Given the description of an element on the screen output the (x, y) to click on. 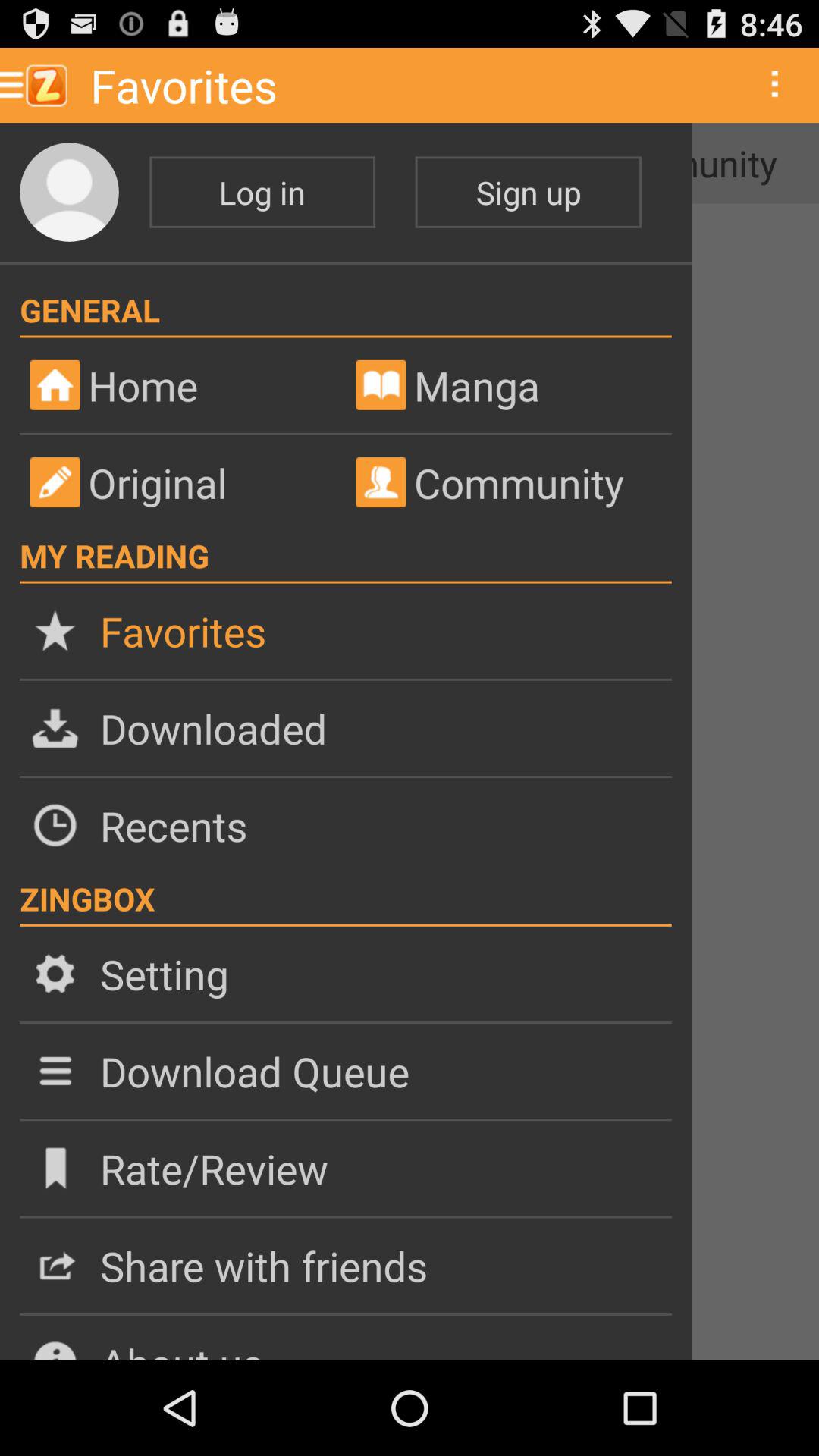
click on the button which is below the share with friends (345, 1337)
click on manga (508, 384)
click on three vertical dots which is at top right corner of the page (773, 85)
click on recents (345, 824)
select the text below general (192, 384)
tap on the box log in shown left to sign up (262, 191)
